Given the description of an element on the screen output the (x, y) to click on. 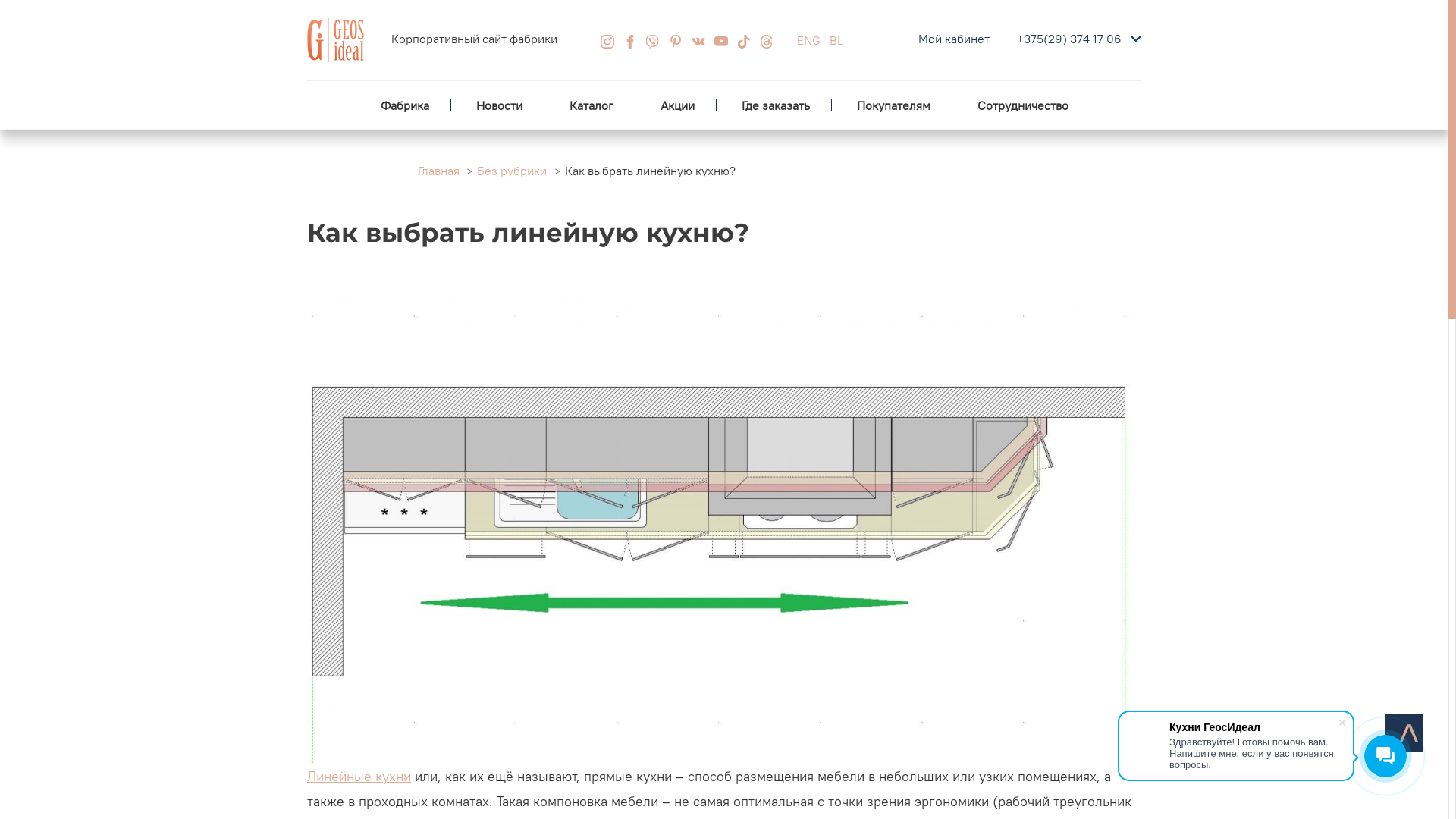
BL Element type: text (836, 39)
ENG Element type: text (808, 39)
+375(29) 374 17 06 Element type: text (1068, 38)
